Given the description of an element on the screen output the (x, y) to click on. 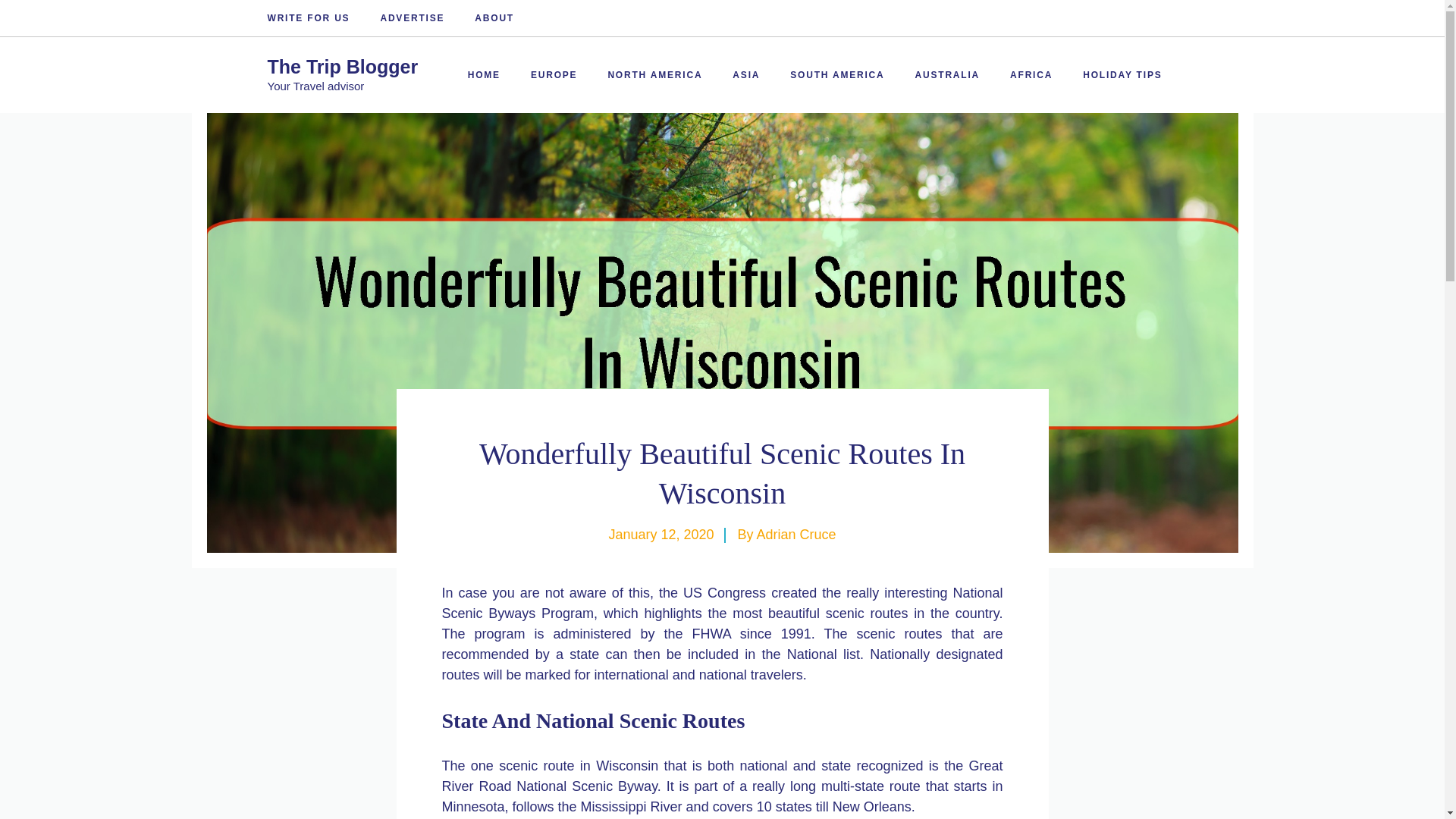
ASIA (745, 74)
ABOUT (493, 18)
ADVERTISE (412, 18)
SOUTH AMERICA (836, 74)
AFRICA (1030, 74)
The Trip Blogger (341, 66)
AUSTRALIA (947, 74)
HOLIDAY TIPS (1121, 74)
Adrian Cruce (796, 534)
NORTH AMERICA (654, 74)
HOME (483, 74)
EUROPE (553, 74)
WRITE FOR US (307, 18)
